Given the description of an element on the screen output the (x, y) to click on. 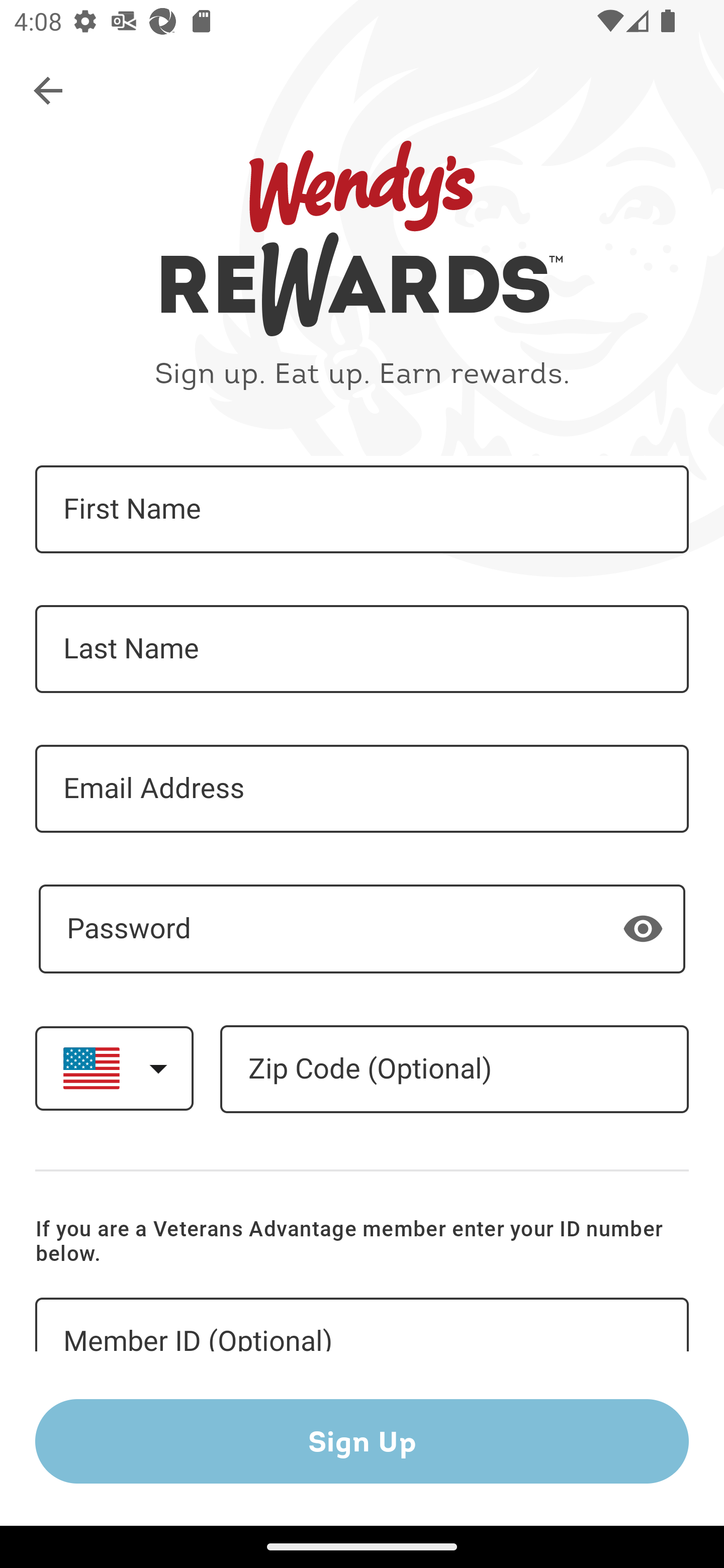
Navigate up (49, 91)
First Name - Required (361, 509)
Last Name - Required (361, 649)
Email Address - Required (361, 788)
- Required (361, 928)
Show password (642, 927)
Zip Code – Optional (454, 1069)
Select a country. United States selected. (114, 1067)
Veterans Advantage ID – Optional (361, 1324)
Sign Up (361, 1440)
